Given the description of an element on the screen output the (x, y) to click on. 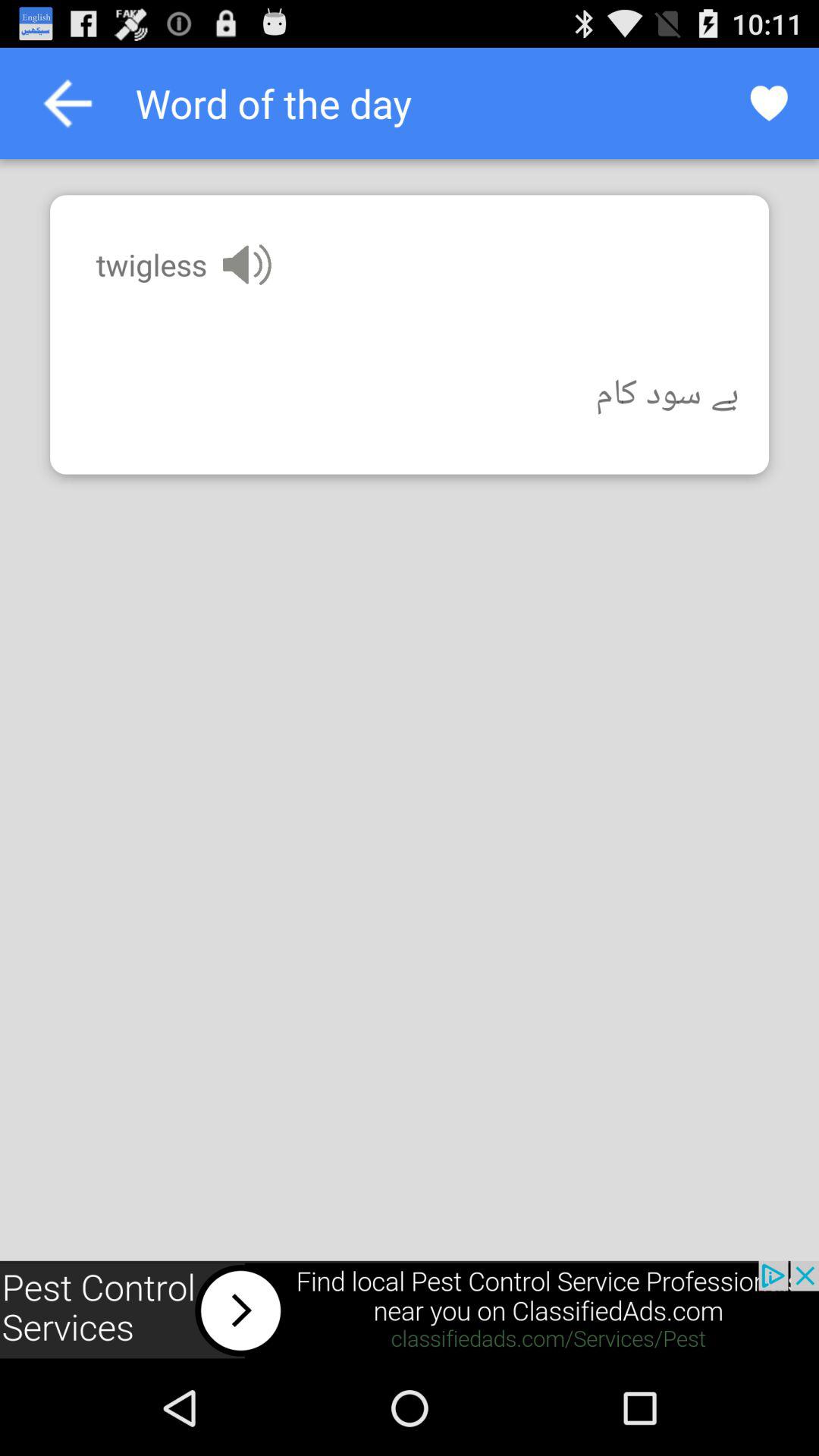
go back (67, 103)
